Given the description of an element on the screen output the (x, y) to click on. 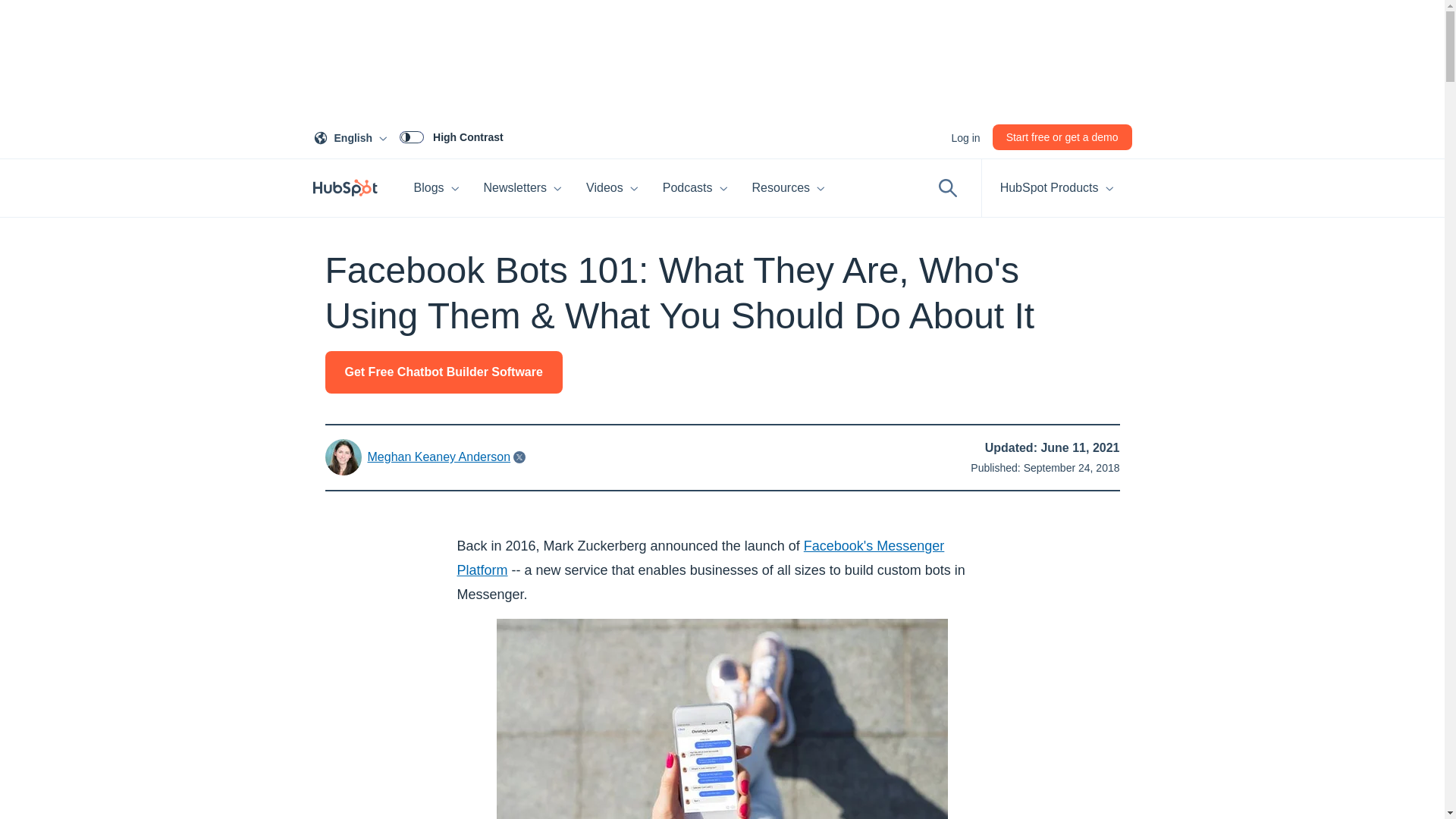
Blogs (436, 187)
Newsletters (523, 187)
Start free or get a demo (353, 136)
Videos (1062, 136)
High Contrast (611, 187)
Log in (450, 137)
